Given the description of an element on the screen output the (x, y) to click on. 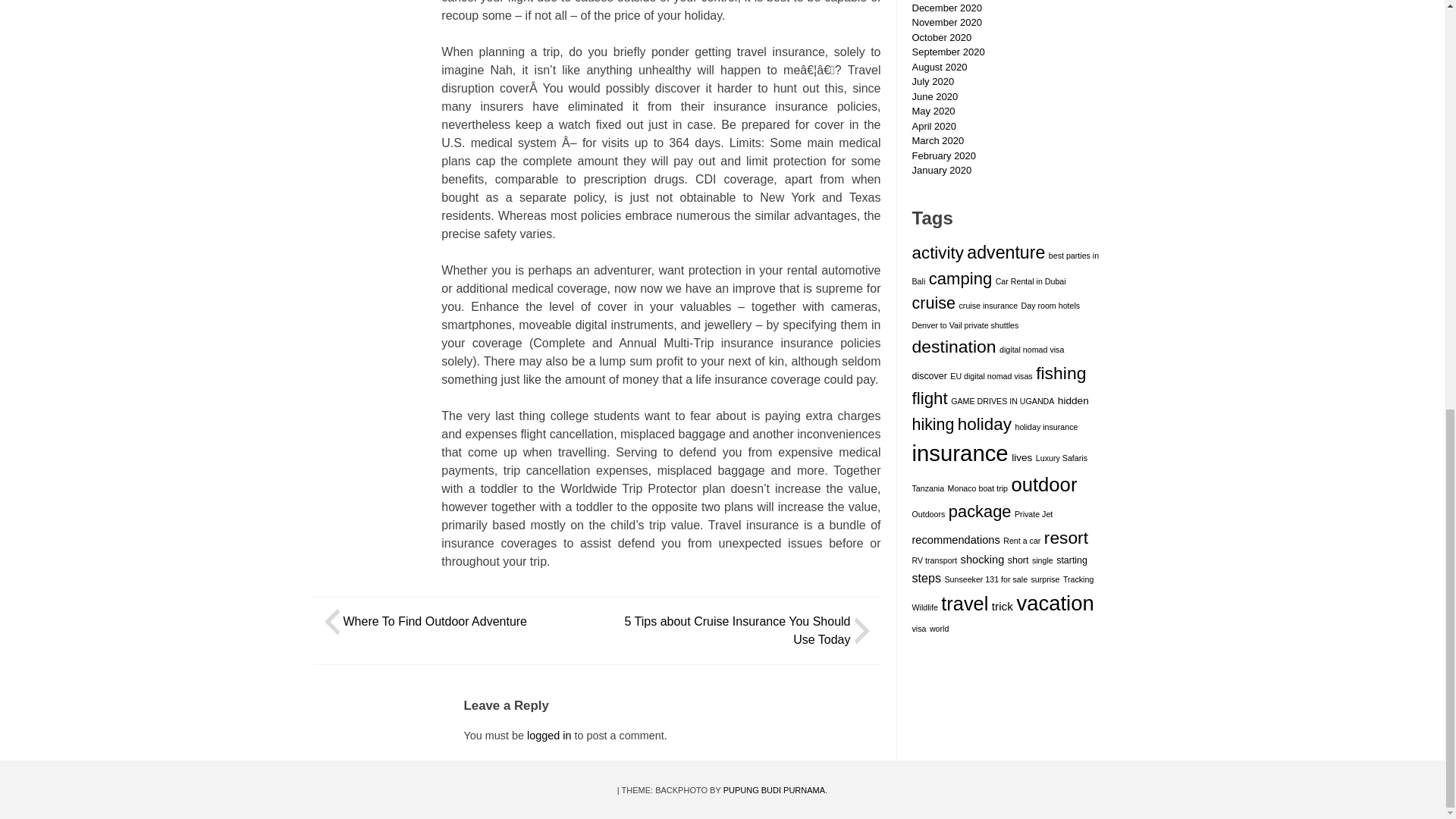
5 Tips about Cruise Insurance You Should Use Today (737, 630)
Where To Find Outdoor Adventure (434, 621)
logged in (548, 735)
